Given the description of an element on the screen output the (x, y) to click on. 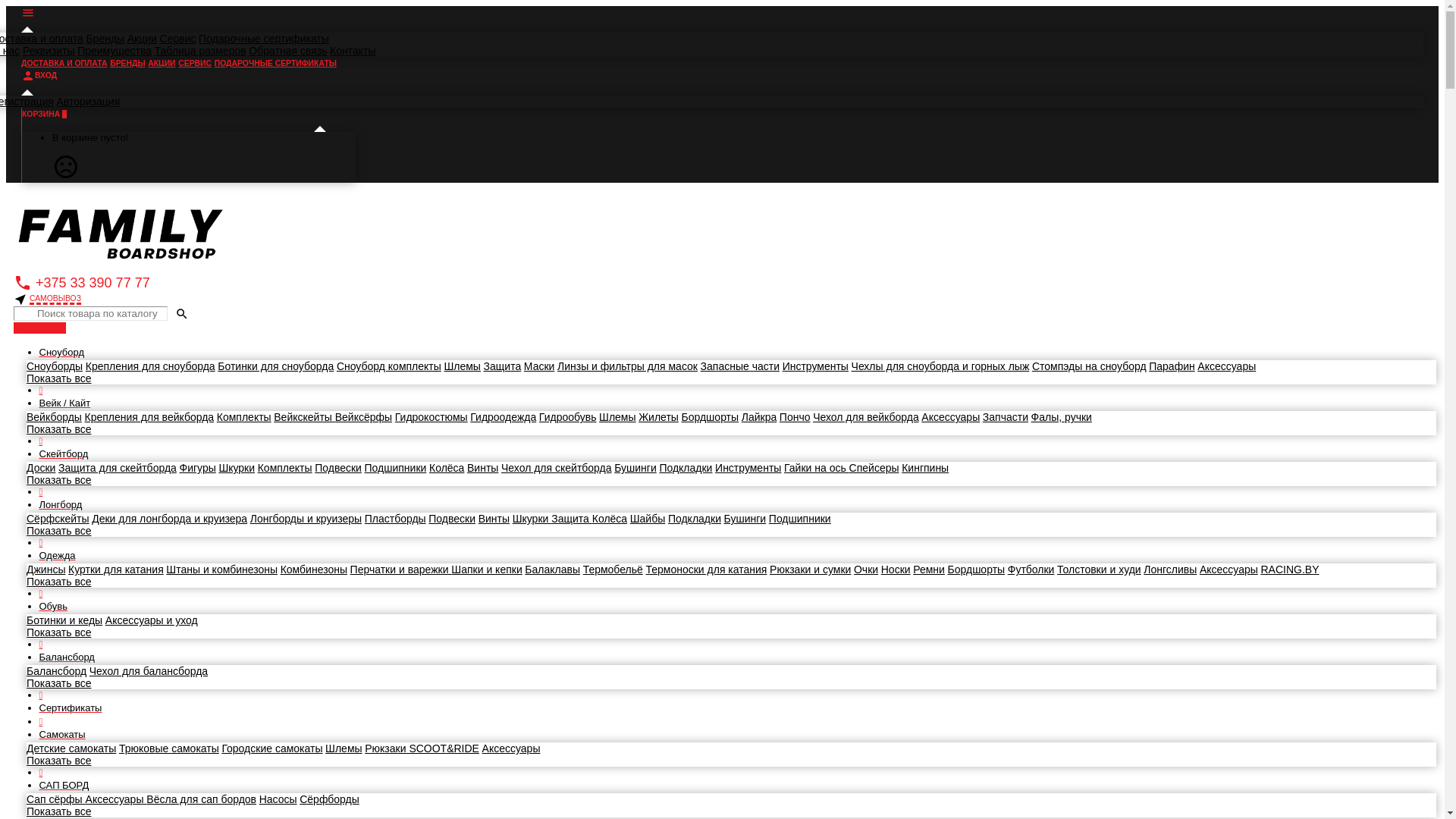
local_phone +375 33 390 77 77 Element type: text (81, 281)
RACING.BY Element type: text (1289, 569)
search Element type: text (181, 313)
menu Element type: text (27, 12)
FAMILY BOARDSHOP Element type: hover (119, 232)
